Given the description of an element on the screen output the (x, y) to click on. 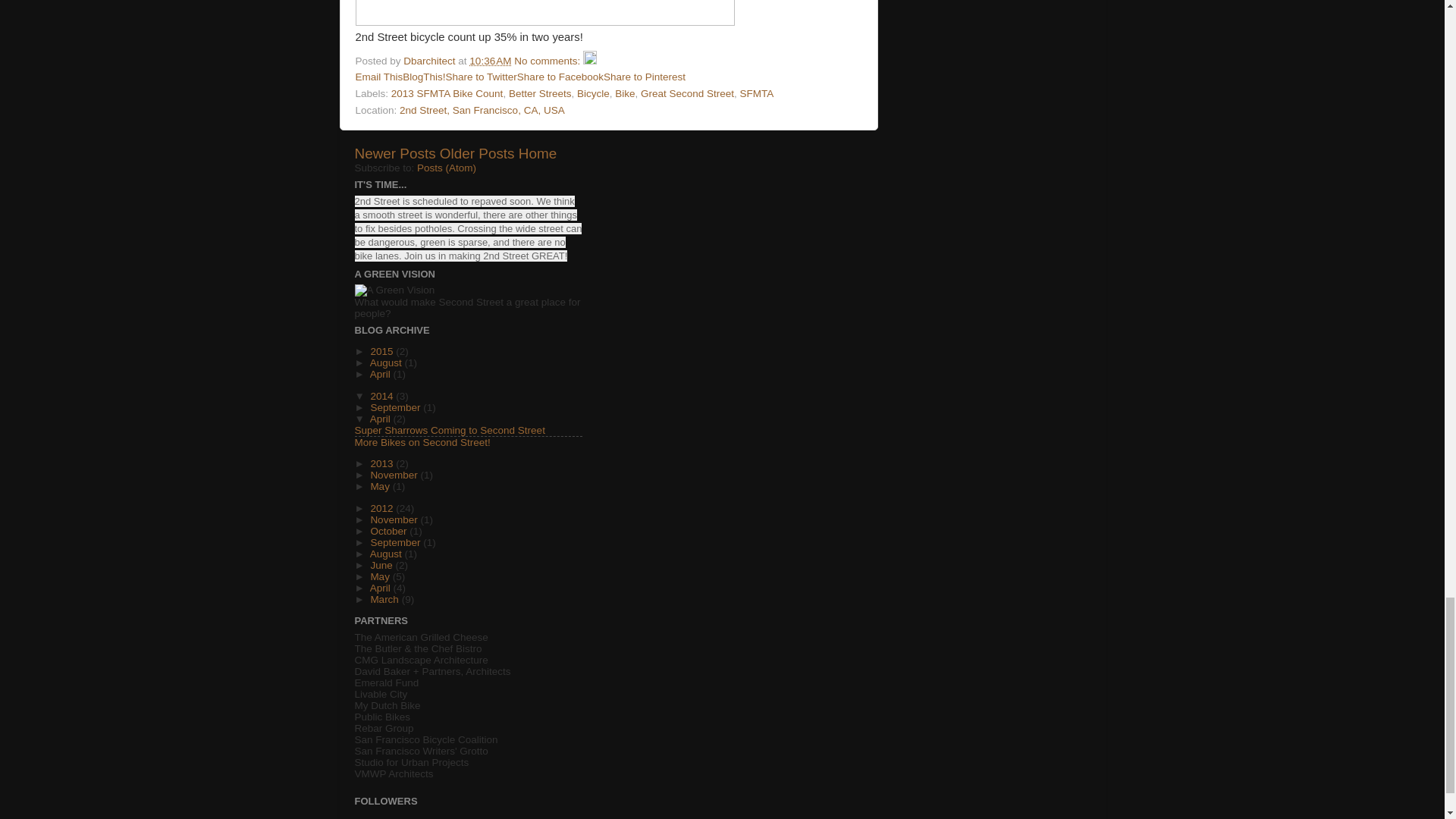
Better Streets (540, 93)
Share to Facebook (560, 76)
Share to Twitter (480, 76)
Great Second Street (686, 93)
author profile (430, 60)
BlogThis! (424, 76)
Email This (379, 76)
permanent link (489, 60)
Email This (379, 76)
Bicycle (593, 93)
Share to Twitter (480, 76)
Bike (624, 93)
BlogThis! (424, 76)
2nd Street, San Francisco, CA, USA (481, 110)
